Given the description of an element on the screen output the (x, y) to click on. 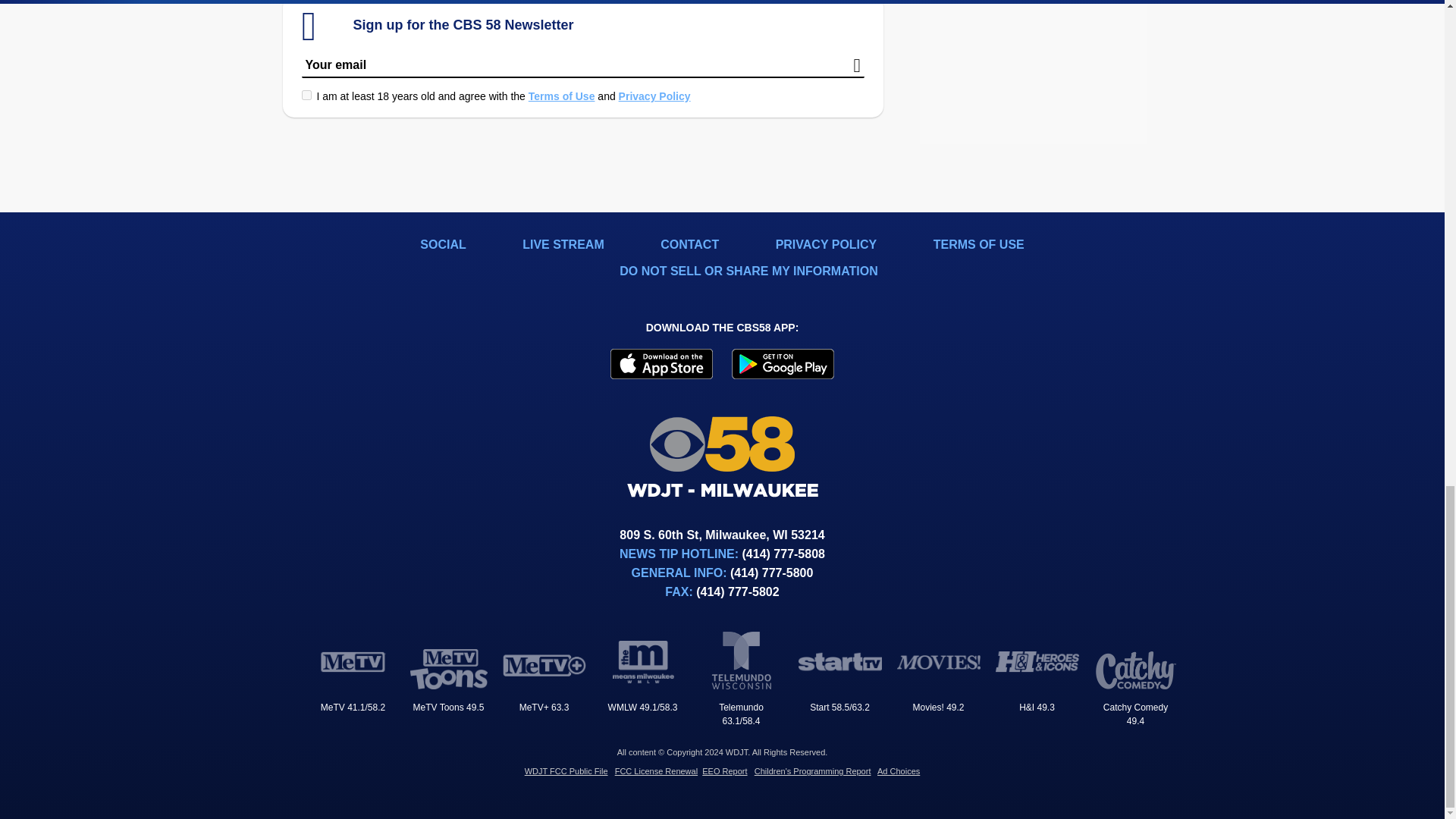
on (306, 94)
